Given the description of an element on the screen output the (x, y) to click on. 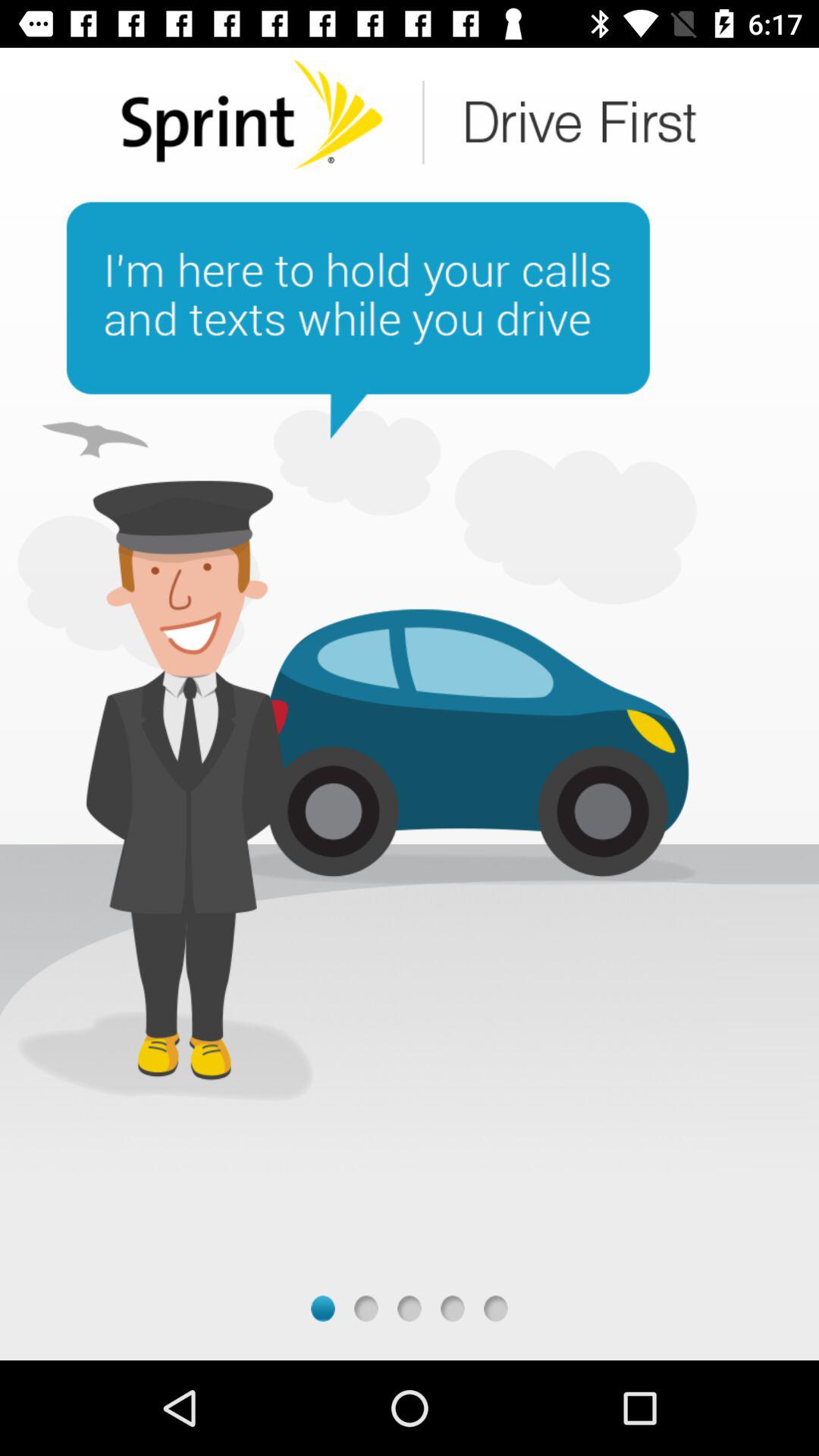
last page (495, 1308)
